Given the description of an element on the screen output the (x, y) to click on. 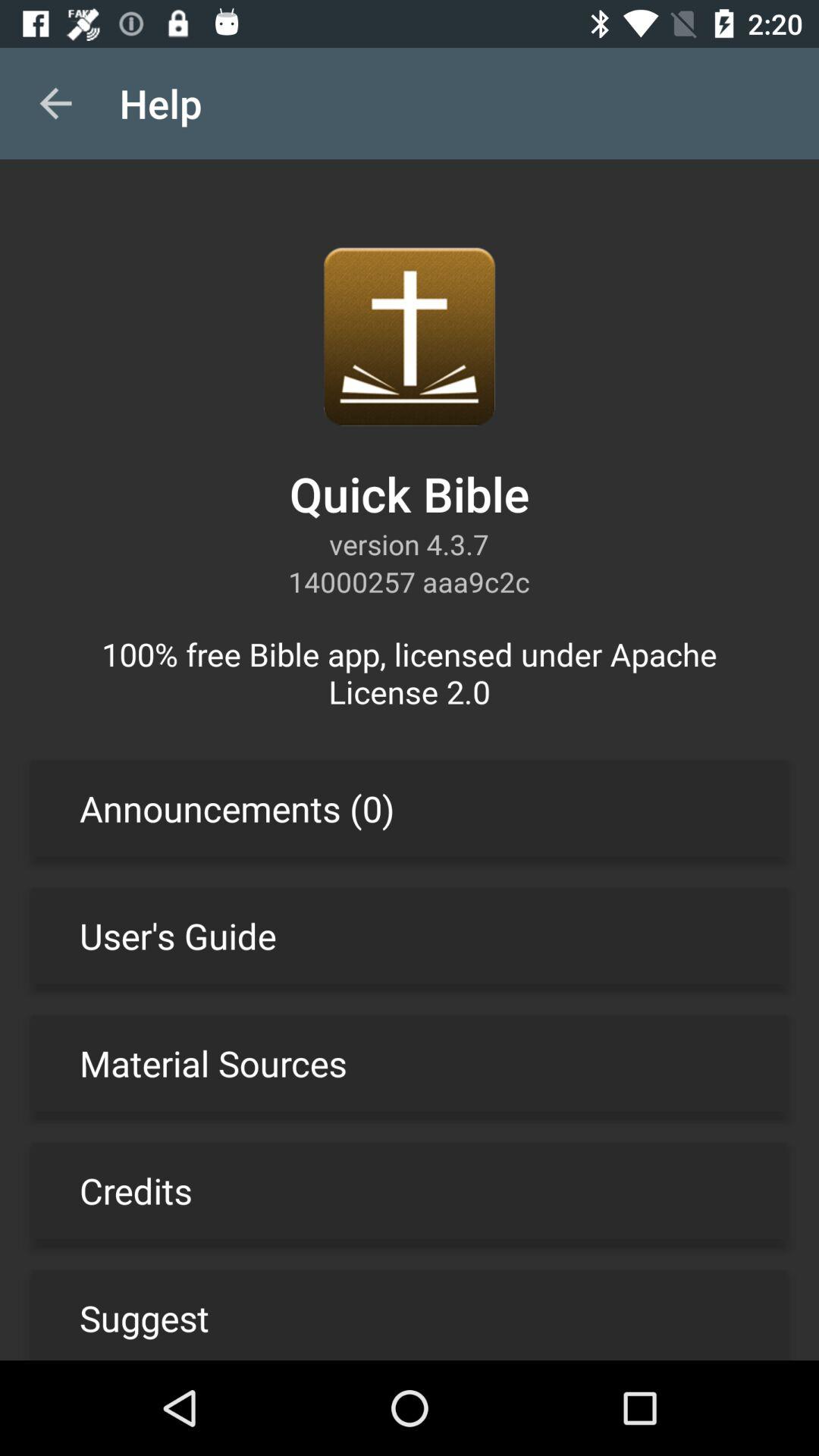
choose the item to the left of help (55, 103)
